Given the description of an element on the screen output the (x, y) to click on. 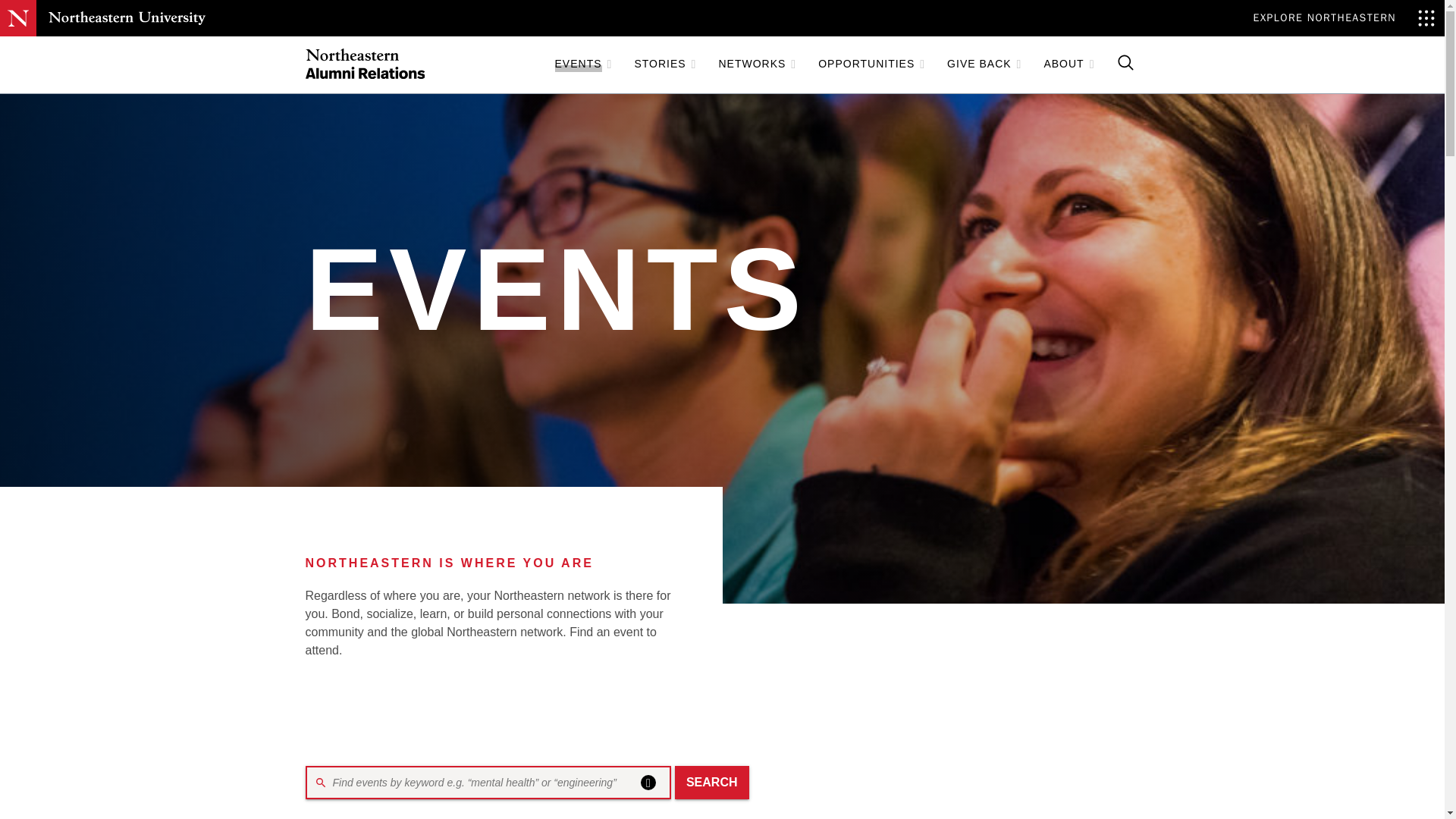
Northeastern University (126, 17)
Alumni Relations (363, 63)
Search (712, 782)
Search (712, 782)
EXPLORE NORTHEASTERN (1343, 18)
